Given the description of an element on the screen output the (x, y) to click on. 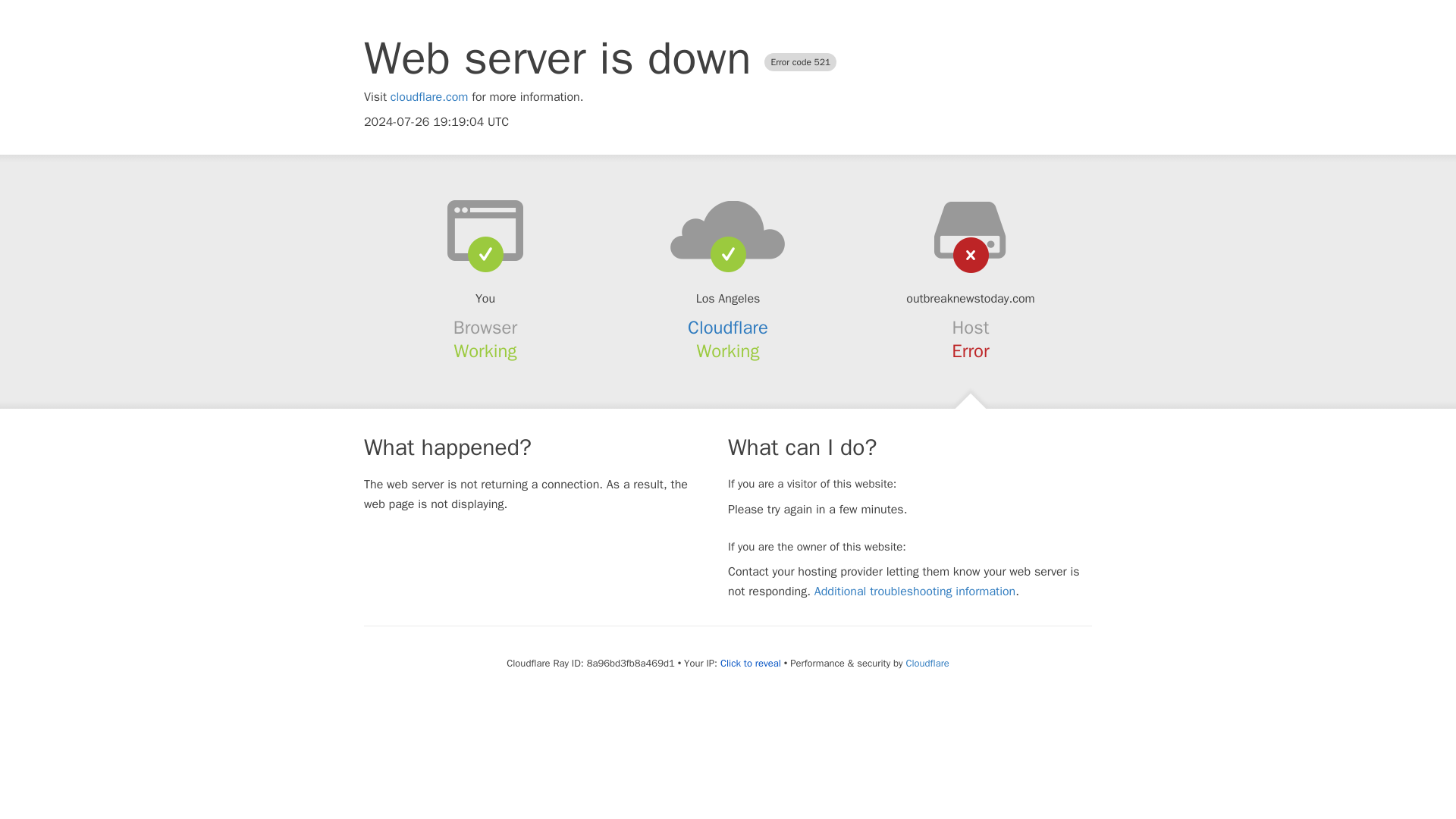
Cloudflare (727, 327)
cloudflare.com (429, 96)
Cloudflare (927, 662)
Click to reveal (750, 663)
Additional troubleshooting information (913, 590)
